Given the description of an element on the screen output the (x, y) to click on. 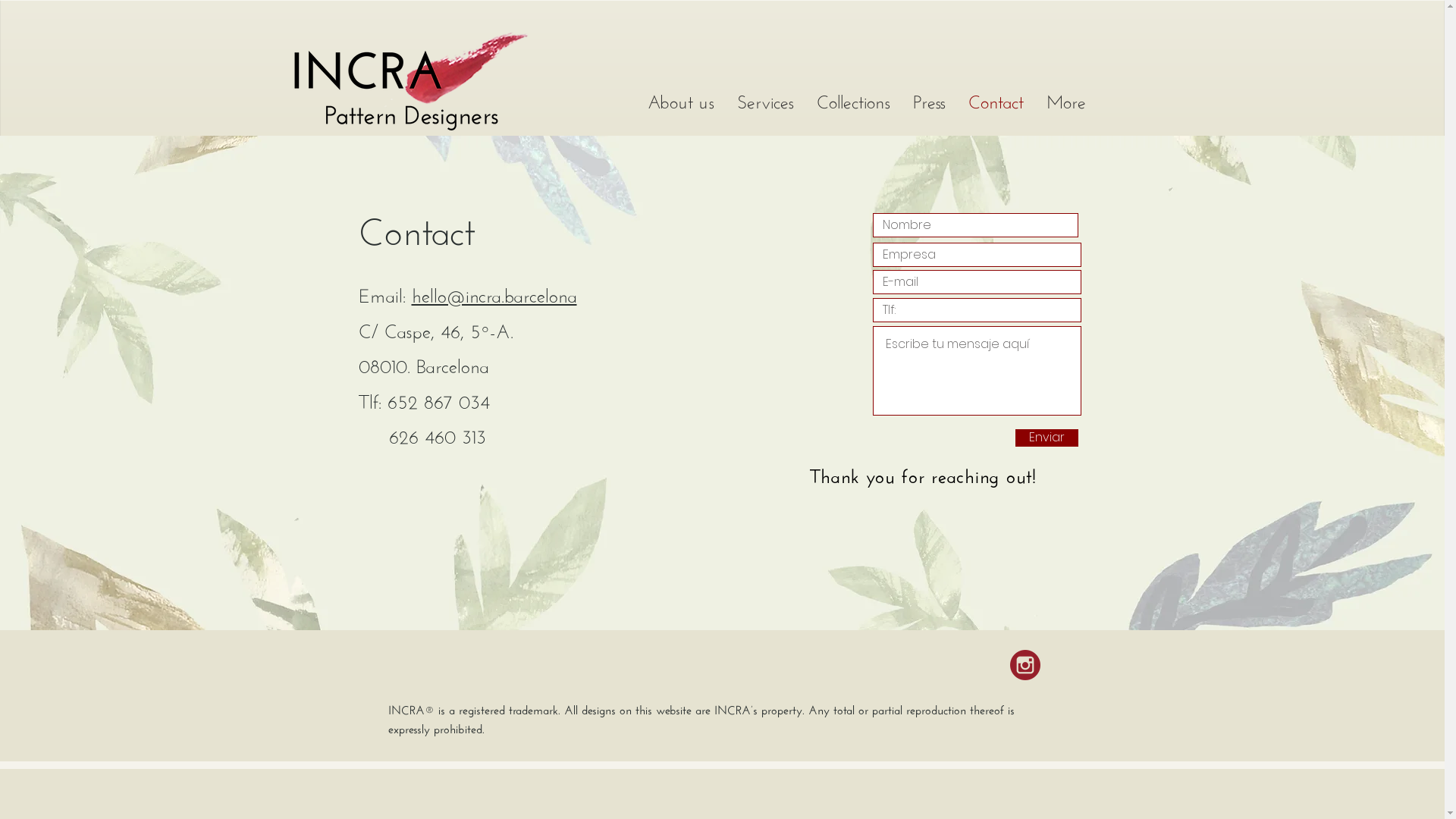
Enviar Element type: text (1045, 437)
Services Element type: text (764, 105)
Collections Element type: text (853, 105)
hello@incra.barcelona Element type: text (493, 292)
About us Element type: text (679, 105)
Contact Element type: text (996, 105)
Press Element type: text (928, 105)
